Given the description of an element on the screen output the (x, y) to click on. 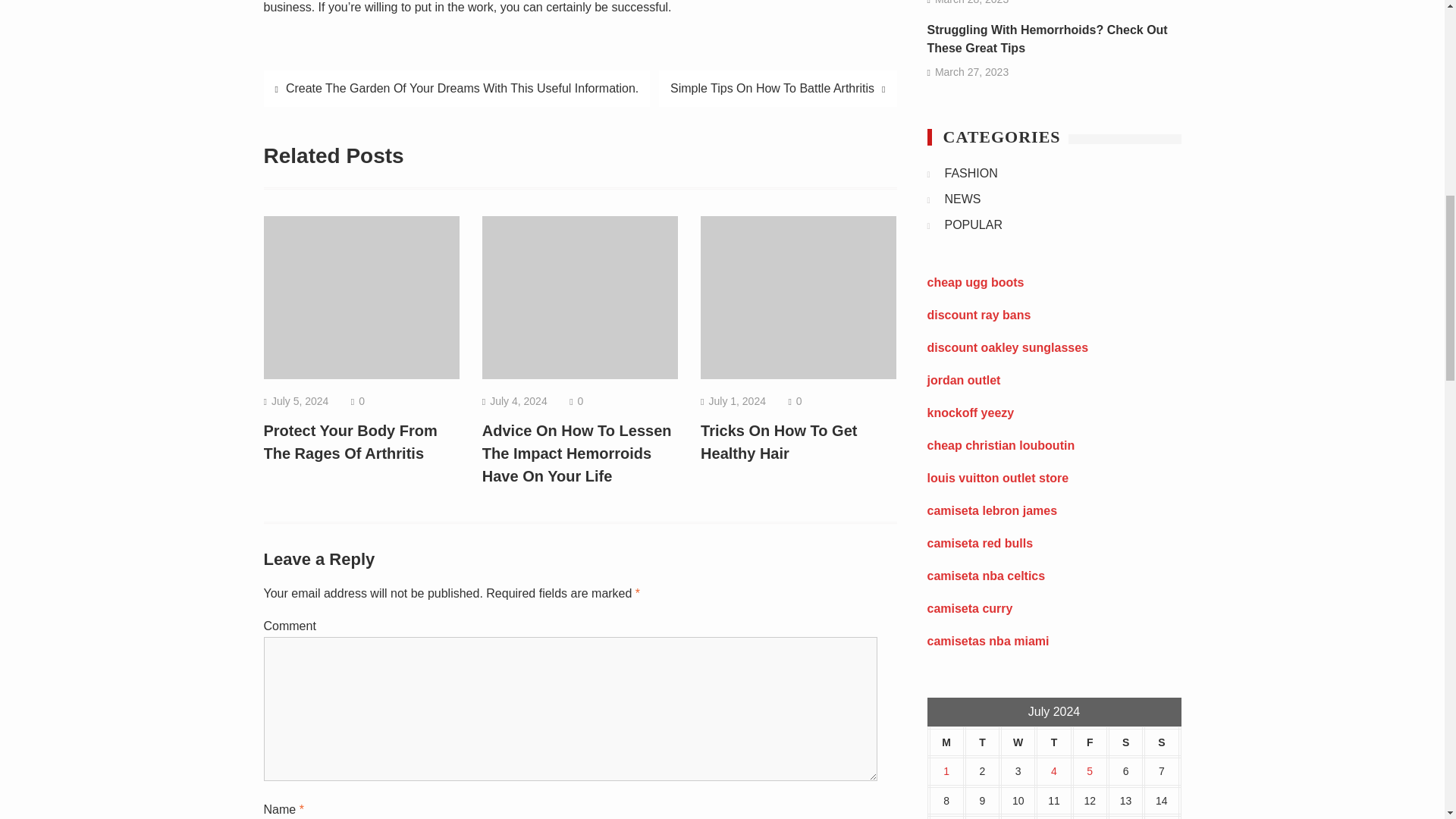
Friday (1089, 742)
Protect Your Body From The Rages Of Arthritis (350, 441)
Monday (945, 742)
Thursday (1053, 742)
Sunday (1160, 742)
Tuesday (981, 742)
Tricks On How To Get Healthy Hair (778, 441)
Saturday (1125, 742)
Simple Tips On How To Battle Arthritis (777, 88)
Wednesday (1017, 742)
